Given the description of an element on the screen output the (x, y) to click on. 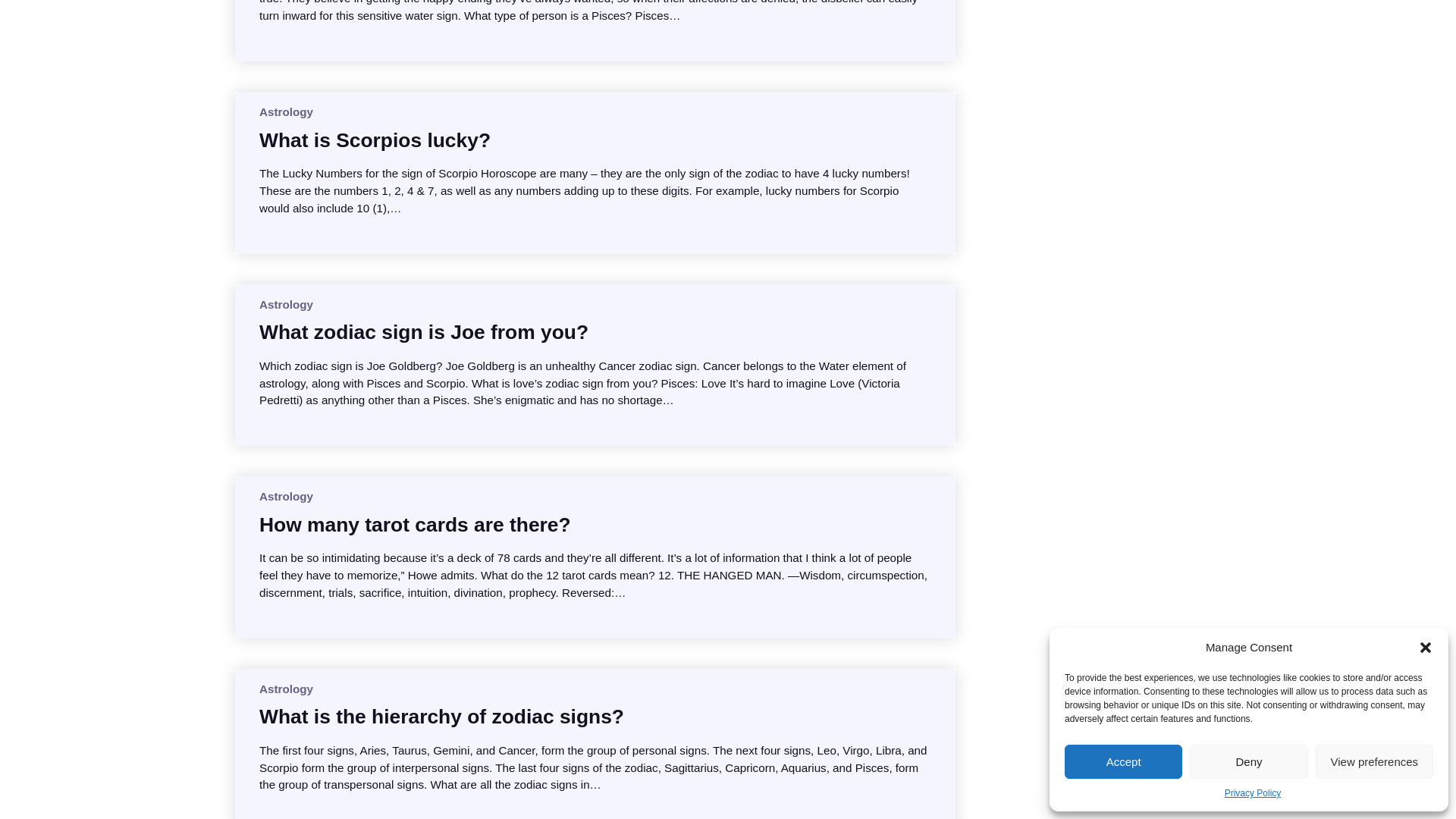
How many tarot cards are there? (414, 524)
Astrology (286, 304)
What is Scorpios lucky? (374, 140)
Astrology (286, 688)
Astrology (286, 495)
Astrology (286, 111)
What zodiac sign is Joe from you? (423, 331)
What is the hierarchy of zodiac signs? (441, 716)
